Given the description of an element on the screen output the (x, y) to click on. 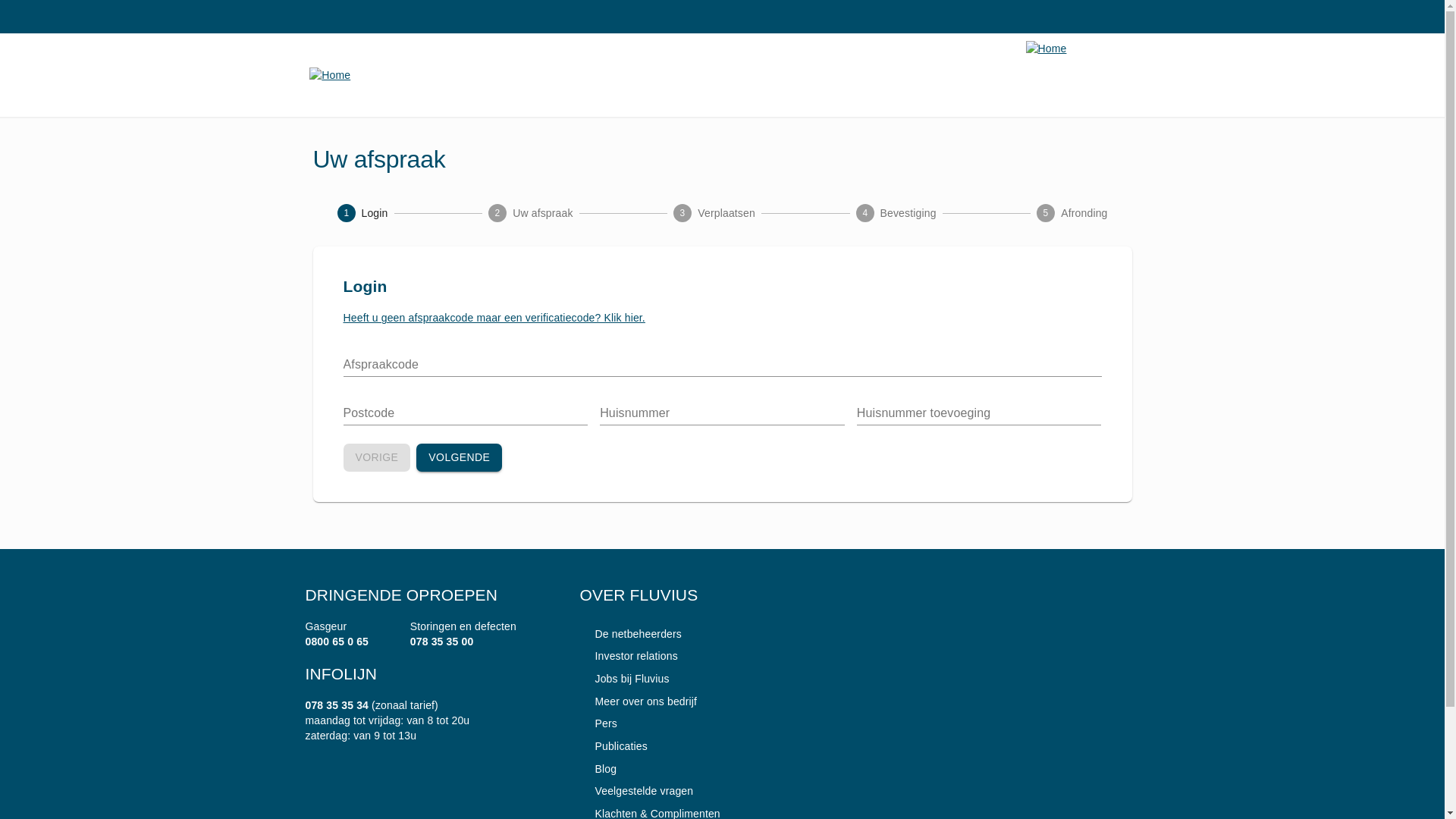
Meer over ons bedrijf Element type: text (637, 701)
Investor relations Element type: text (628, 655)
0800 65 0 65 Element type: text (336, 641)
Jobs bij Fluvius Element type: text (623, 678)
078 35 35 00 Element type: text (441, 641)
Pers Element type: text (597, 723)
VORIGE Element type: text (376, 457)
VOLGENDE Element type: text (459, 457)
Home Element type: hover (366, 74)
De netbeheerders Element type: text (629, 633)
Home Element type: hover (1082, 48)
078 35 35 34 Element type: text (336, 705)
Veelgestelde vragen Element type: text (636, 790)
Blog Element type: text (597, 768)
Publicaties Element type: text (612, 746)
